Given the description of an element on the screen output the (x, y) to click on. 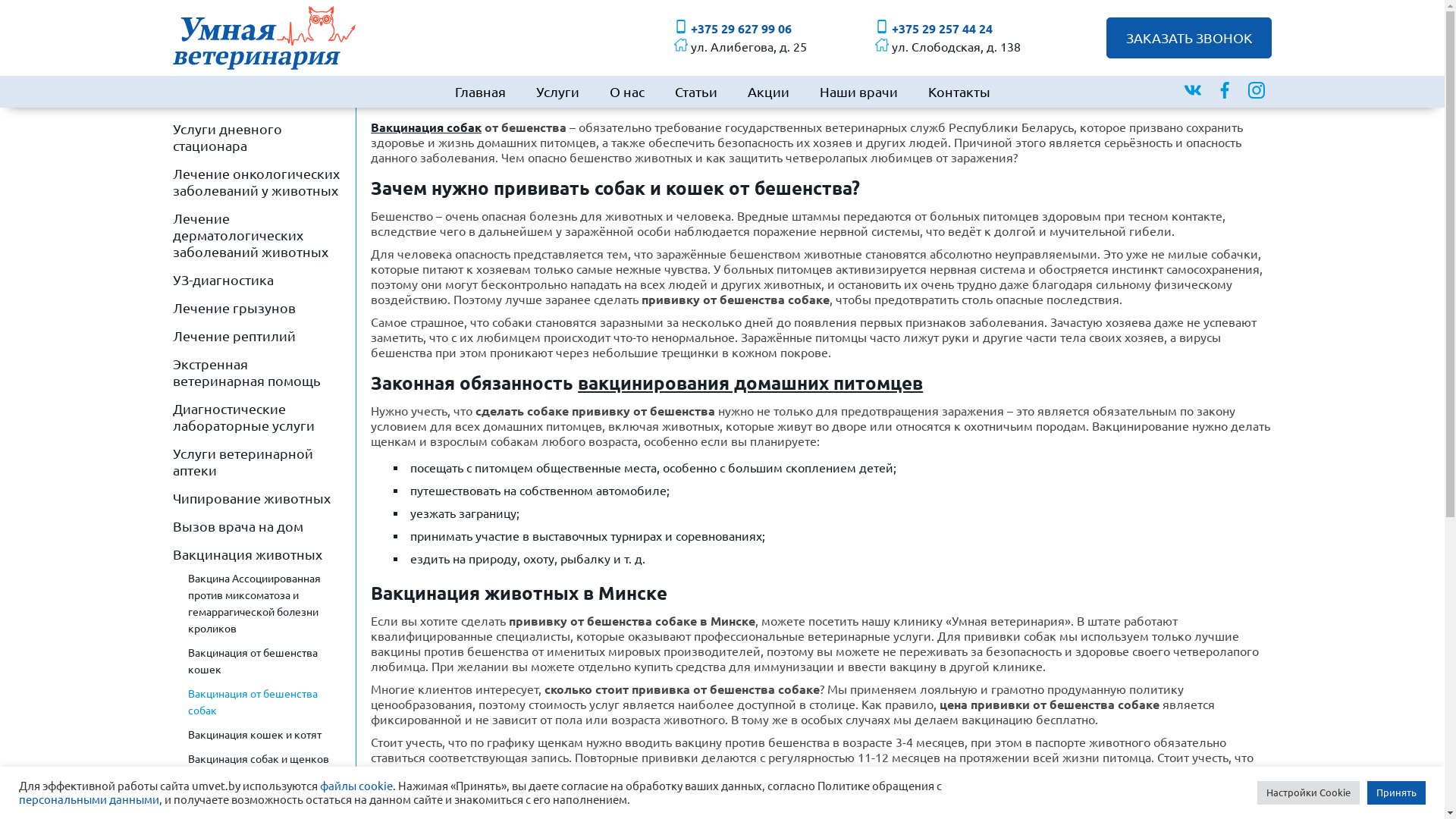
+375 29 627 99 06 Element type: text (732, 28)
+375 29 257 44 24 Element type: text (933, 28)
